Given the description of an element on the screen output the (x, y) to click on. 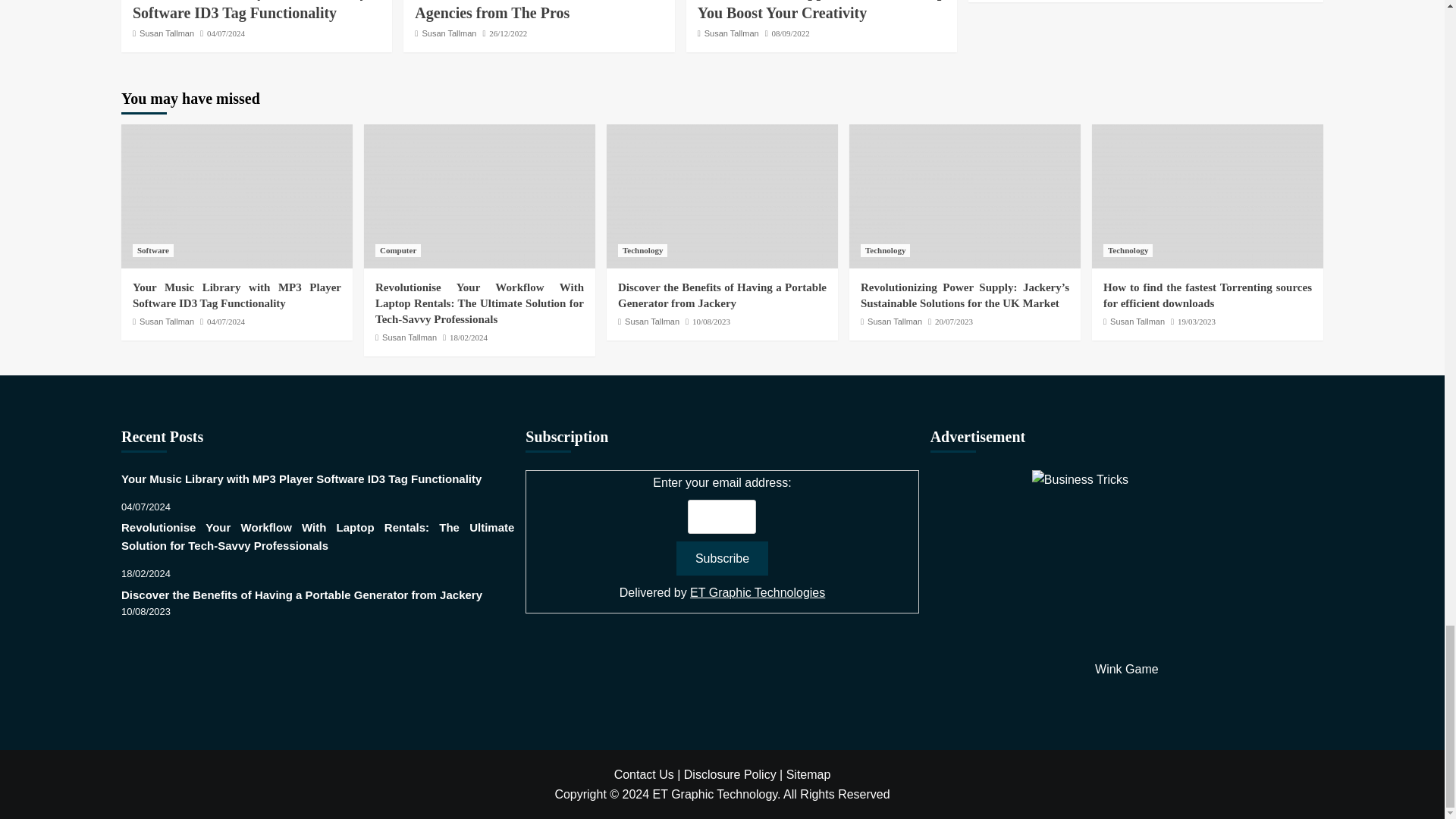
Susan Tallman (166, 32)
The 5 Best Recruitment Software for Agencies from The Pros (538, 10)
Susan Tallman (449, 32)
Subscribe (722, 558)
